Given the description of an element on the screen output the (x, y) to click on. 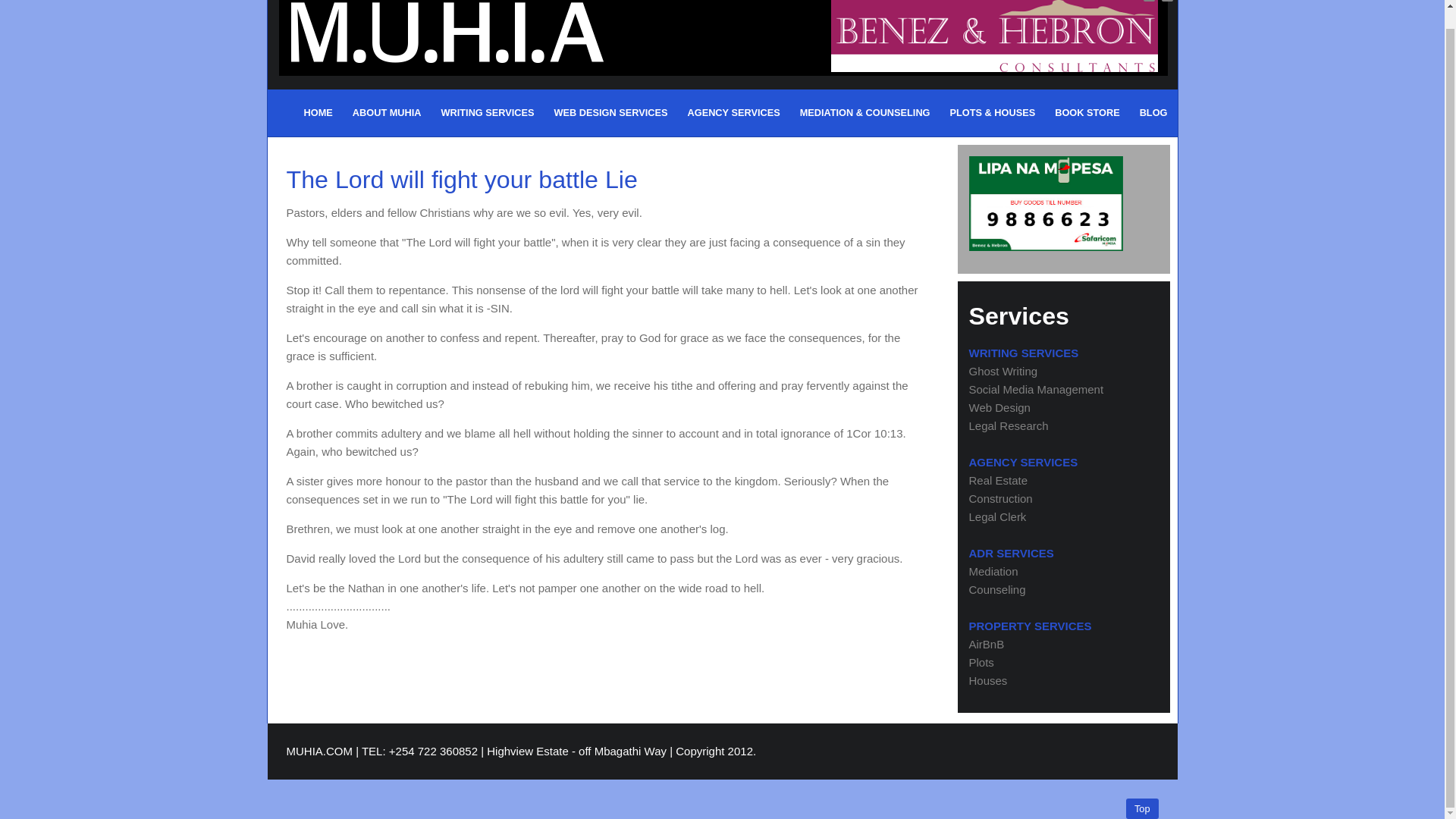
ADR SERVICES (1011, 553)
WRITING SERVICES (487, 112)
BOOK STORE (1086, 112)
HOME (318, 112)
BLOG (1153, 112)
WRITING SERVICES (1023, 352)
The Lord will fight your battle Lie (461, 179)
PROPERTY SERVICES (1030, 625)
AGENCY SERVICES (1023, 461)
WEB DESIGN SERVICES (610, 112)
